Given the description of an element on the screen output the (x, y) to click on. 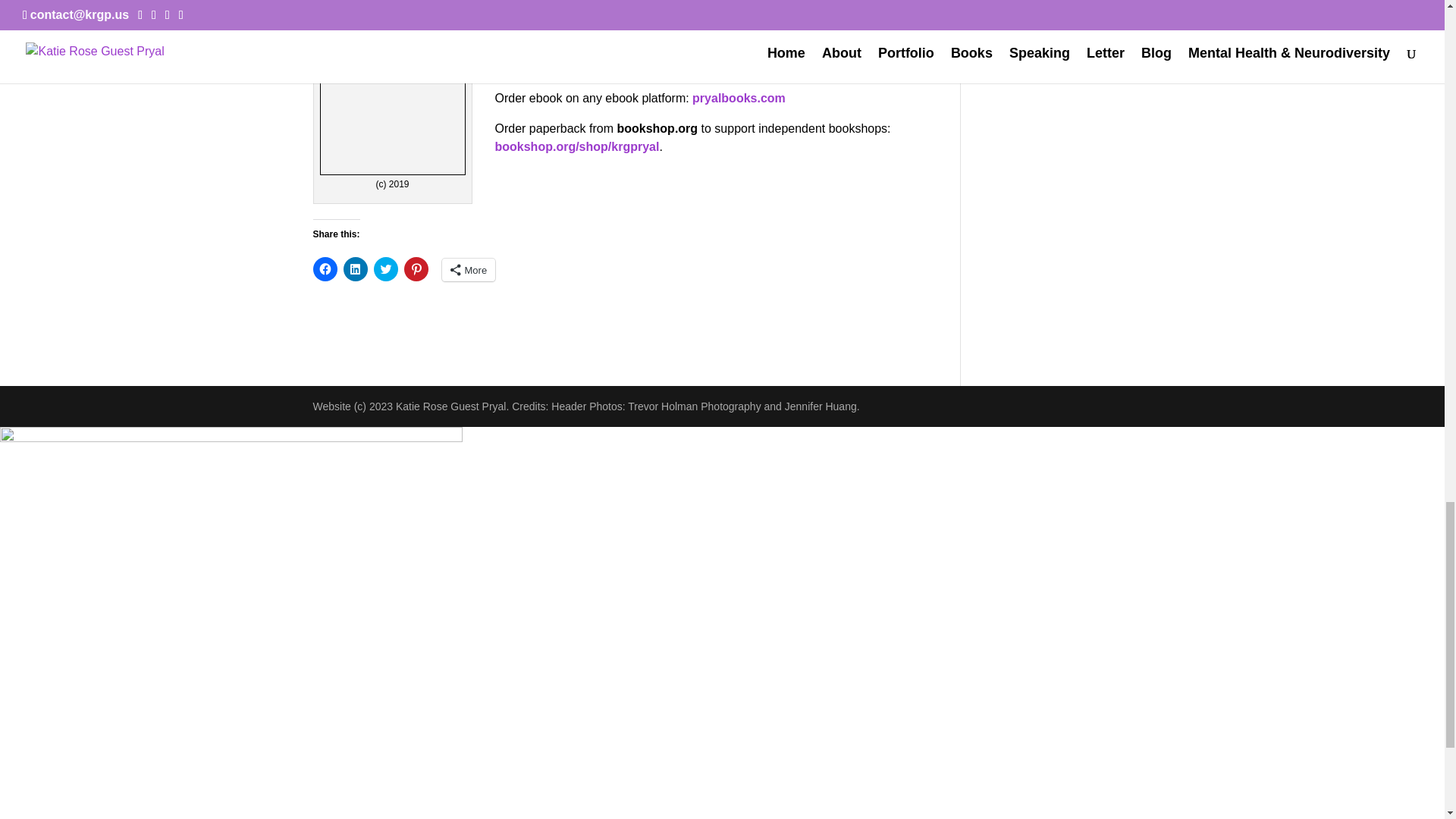
pryalbooks.com (739, 97)
Click to share on LinkedIn (354, 269)
Click to share on Twitter (384, 269)
Click to share on Facebook (324, 269)
More (468, 269)
Click to share on Pinterest (415, 269)
